Given the description of an element on the screen output the (x, y) to click on. 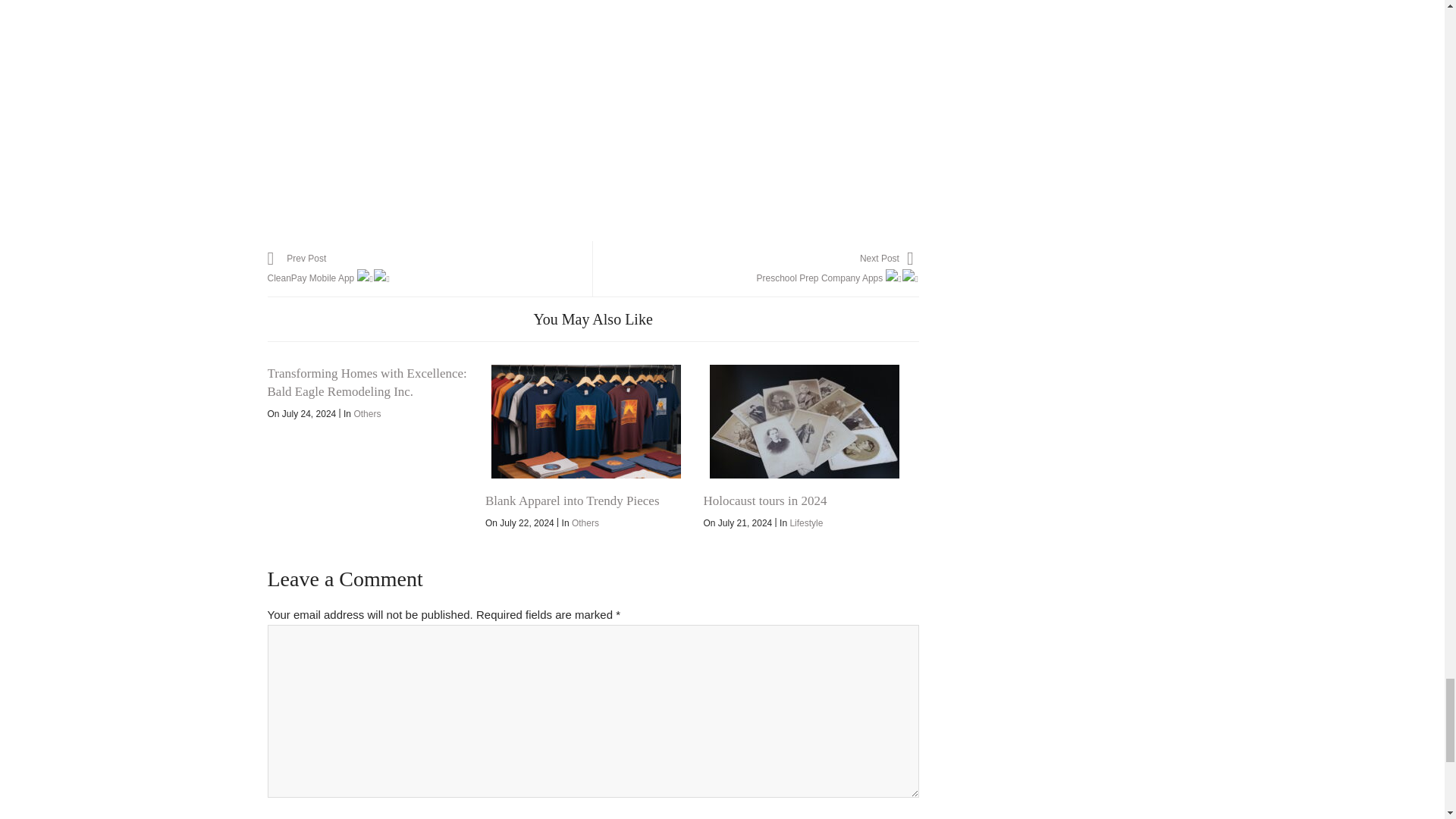
Others (585, 522)
Blank Apparel into Trendy Pieces (585, 421)
Lifestyle (805, 522)
Others (755, 268)
Holocaust tours in 2024 (366, 413)
Blank Apparel into Trendy Pieces (765, 500)
Holocaust tours in 2024 (571, 500)
